Given the description of an element on the screen output the (x, y) to click on. 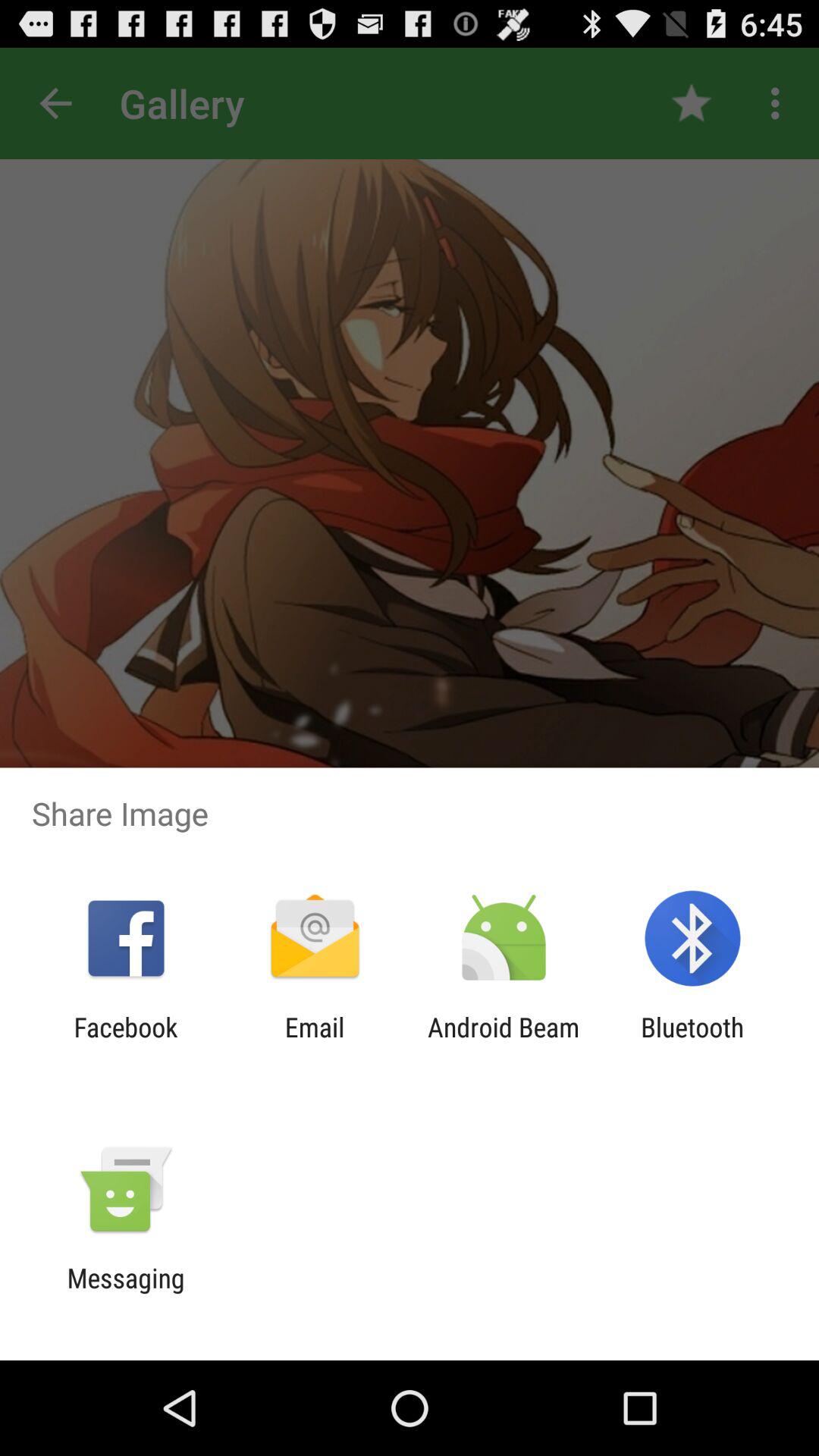
jump until facebook icon (125, 1042)
